Given the description of an element on the screen output the (x, y) to click on. 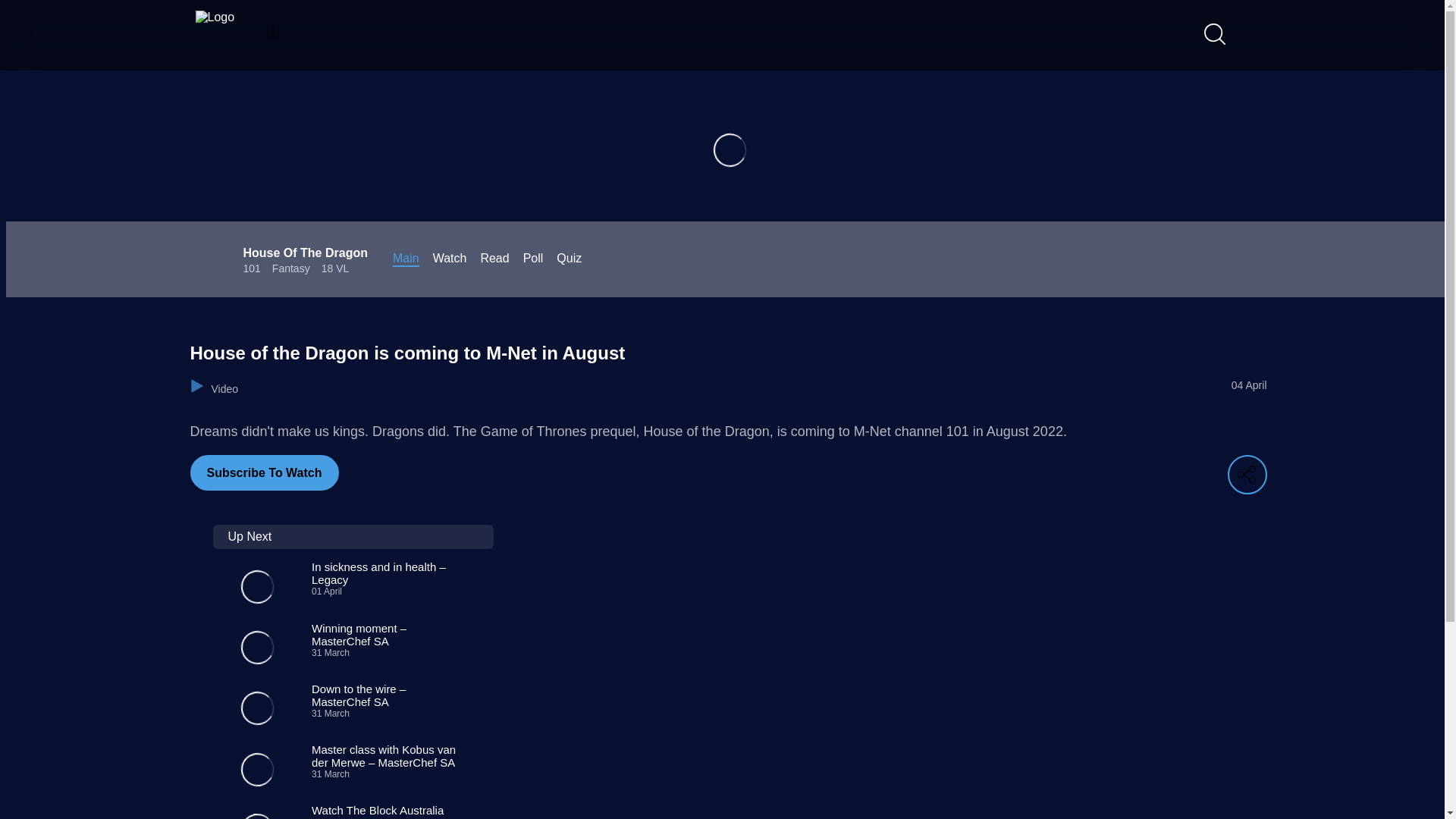
Poll (532, 258)
Subscribe To Watch (263, 472)
Watch (337, 811)
Read (449, 258)
Quiz (494, 258)
Main (568, 258)
